Given the description of an element on the screen output the (x, y) to click on. 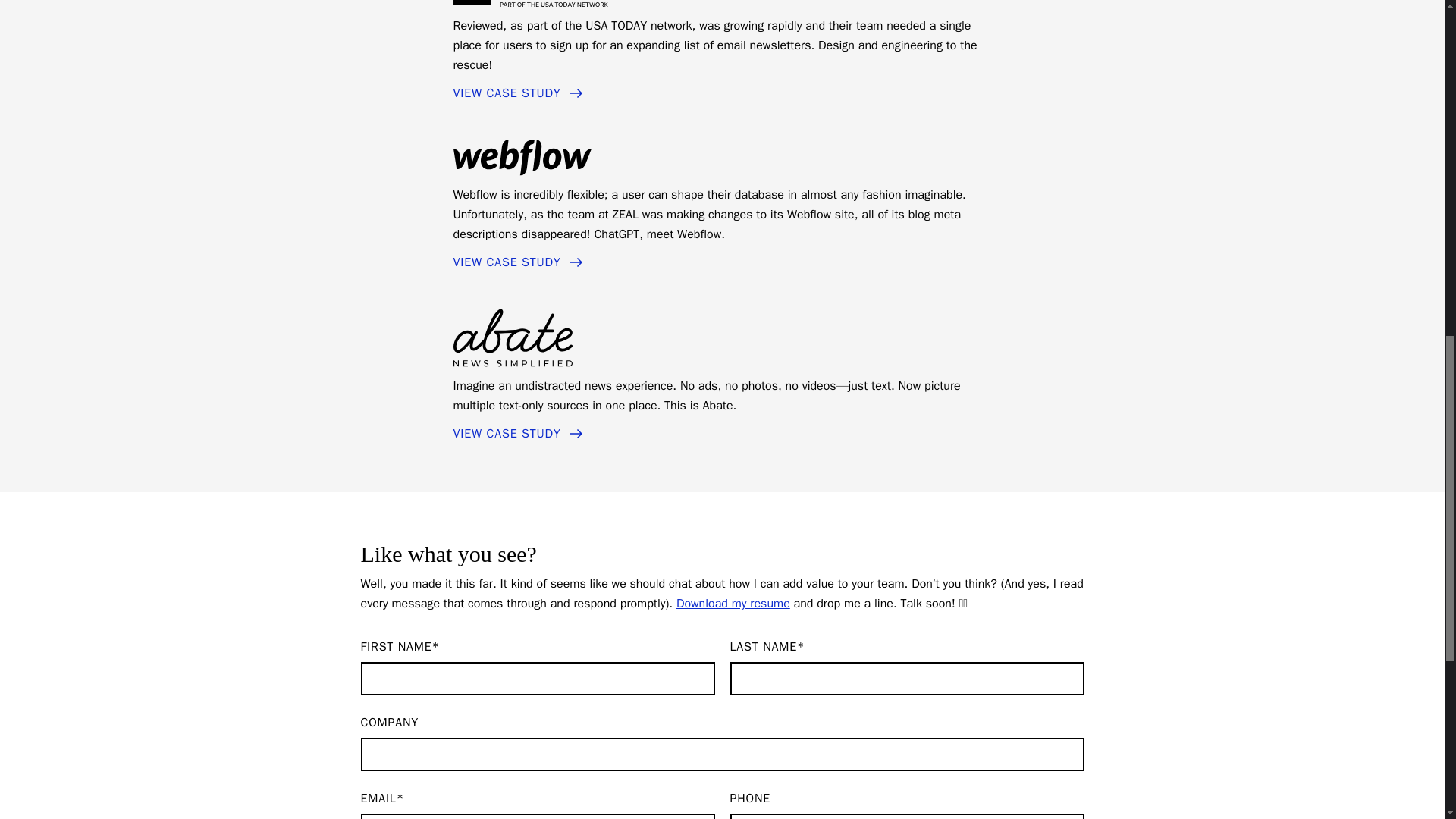
VIEW CASE STUDY (518, 434)
VIEW CASE STUDY (518, 262)
Download my resume (733, 603)
VIEW CASE STUDY (518, 93)
